Given the description of an element on the screen output the (x, y) to click on. 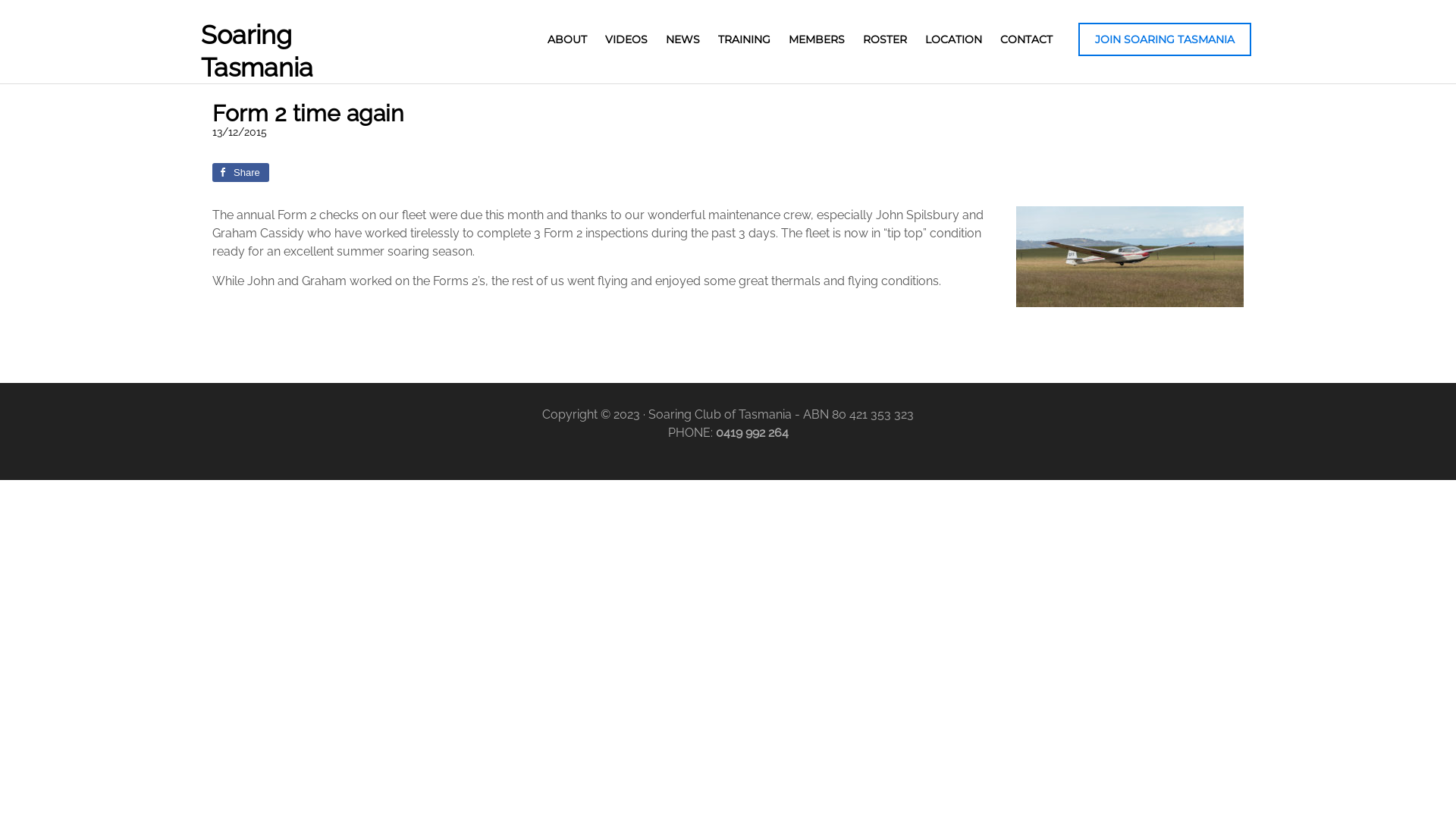
ABOUT Element type: text (566, 39)
CONTACT Element type: text (1026, 39)
ROSTER Element type: text (884, 39)
VIDEOS Element type: text (626, 39)
LOCATION Element type: text (953, 39)
MEMBERS Element type: text (816, 39)
NEWS Element type: text (682, 39)
JOIN SOARING TASMANIA Element type: text (1164, 39)
Share Element type: text (240, 171)
Skip to primary navigation Element type: text (0, 0)
Soaring Tasmania Element type: text (256, 50)
TRAINING Element type: text (744, 39)
